Given the description of an element on the screen output the (x, y) to click on. 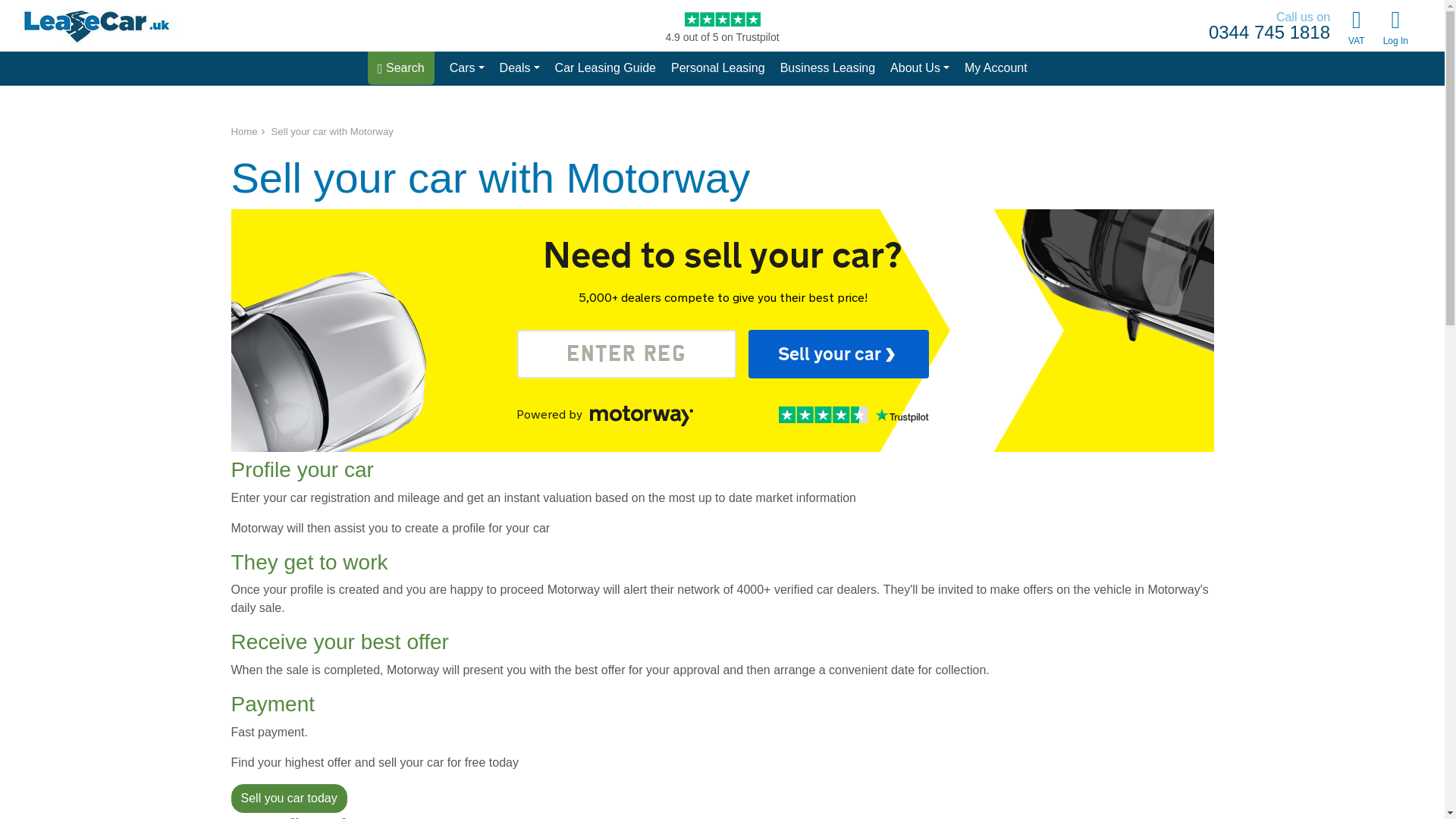
0344 745 1818 (1269, 32)
Lease A Vehicle (95, 26)
